Given the description of an element on the screen output the (x, y) to click on. 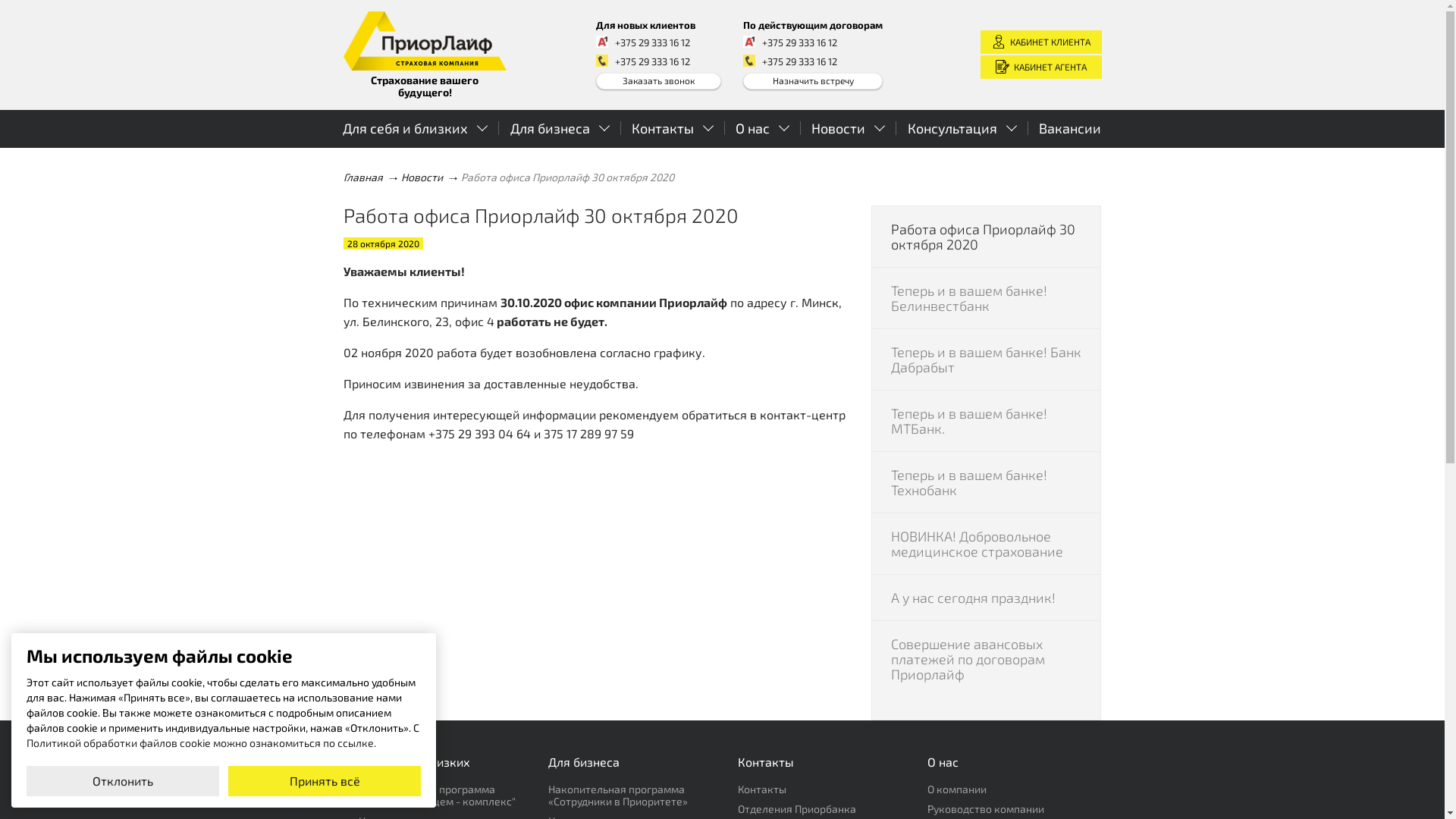
+375 29 333 16 12 Element type: text (799, 42)
+375 29 333 16 12 Element type: text (799, 42)
+375 29 333 16 12 Element type: text (652, 42)
+375 29 333 16 12 Element type: text (799, 61)
+375 29 333 16 12 Element type: text (652, 61)
+375 29 333 16 12 Element type: text (652, 61)
+375 29 333 16 12 Element type: text (652, 42)
+375 29 333 16 12 Element type: text (799, 61)
